Given the description of an element on the screen output the (x, y) to click on. 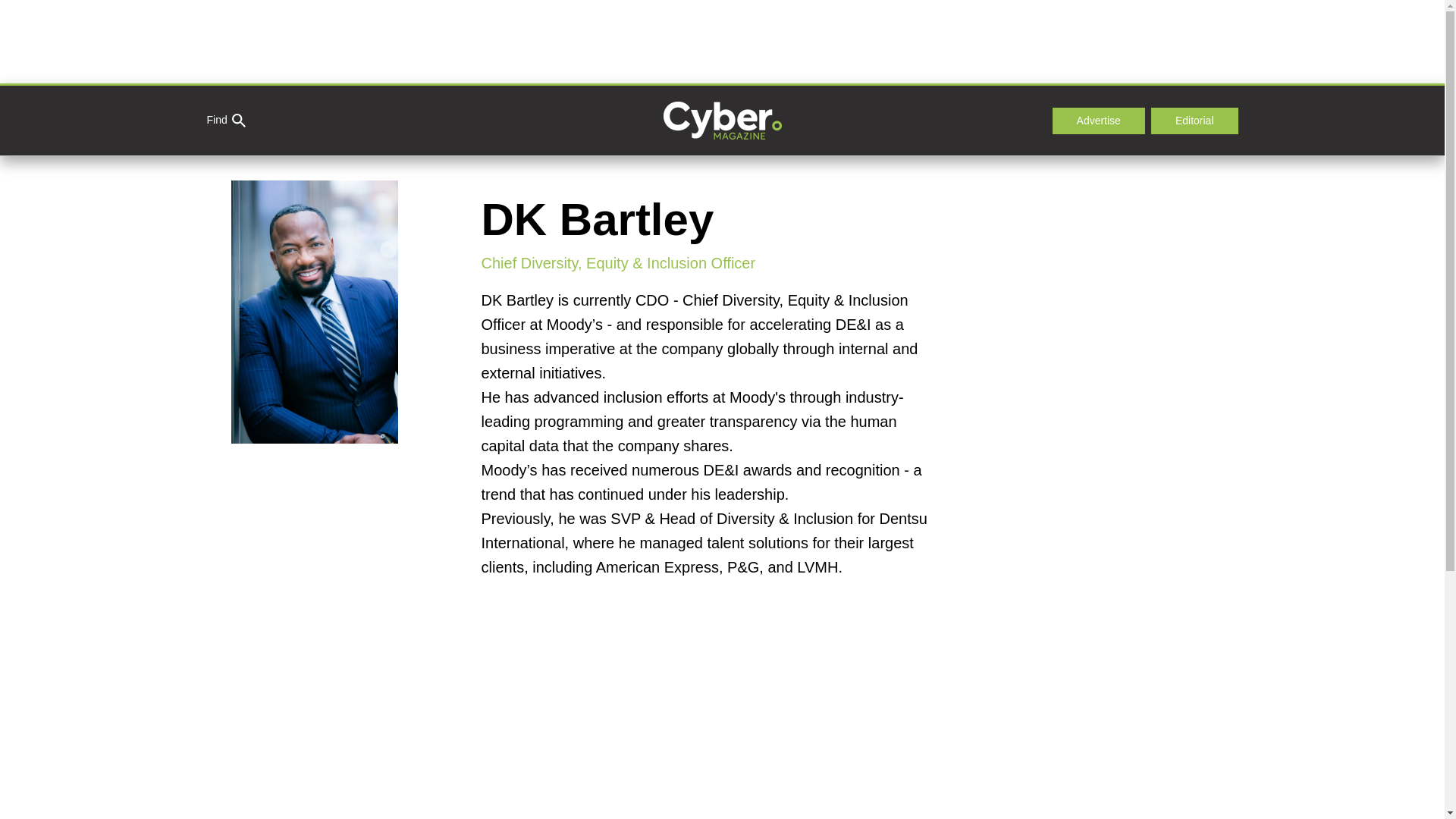
Find (225, 120)
Advertise (1098, 121)
Editorial (1195, 121)
